Given the description of an element on the screen output the (x, y) to click on. 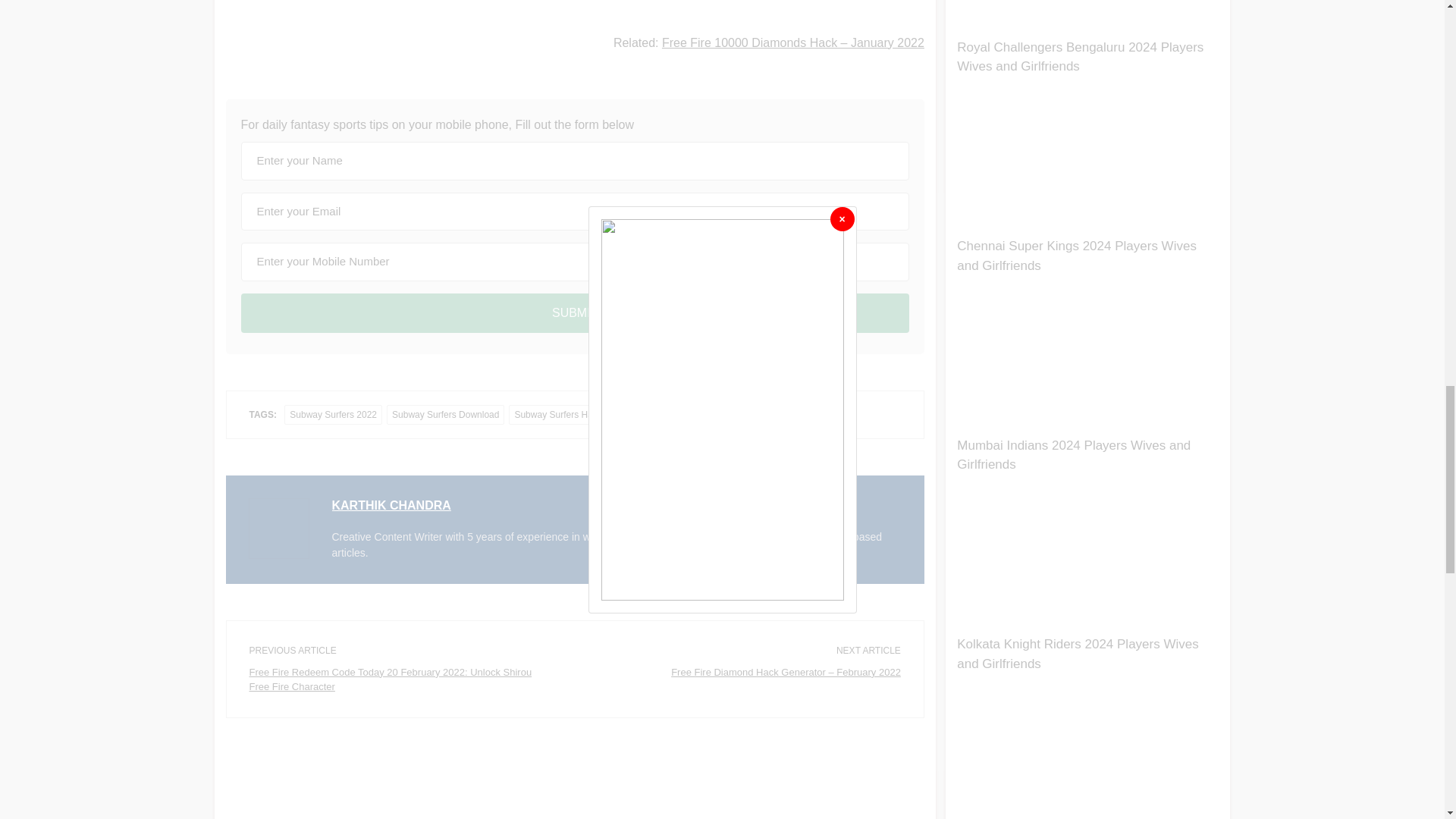
Posts by Karthik Chandra (391, 504)
Kolkata Knight Riders 2024 Players Wives and Girlfriends (1077, 653)
Chennai Super Kings 2024 Players Wives and Girlfriends (1076, 255)
Mumbai Indians 2024 Players Wives and Girlfriends (1073, 455)
